Given the description of an element on the screen output the (x, y) to click on. 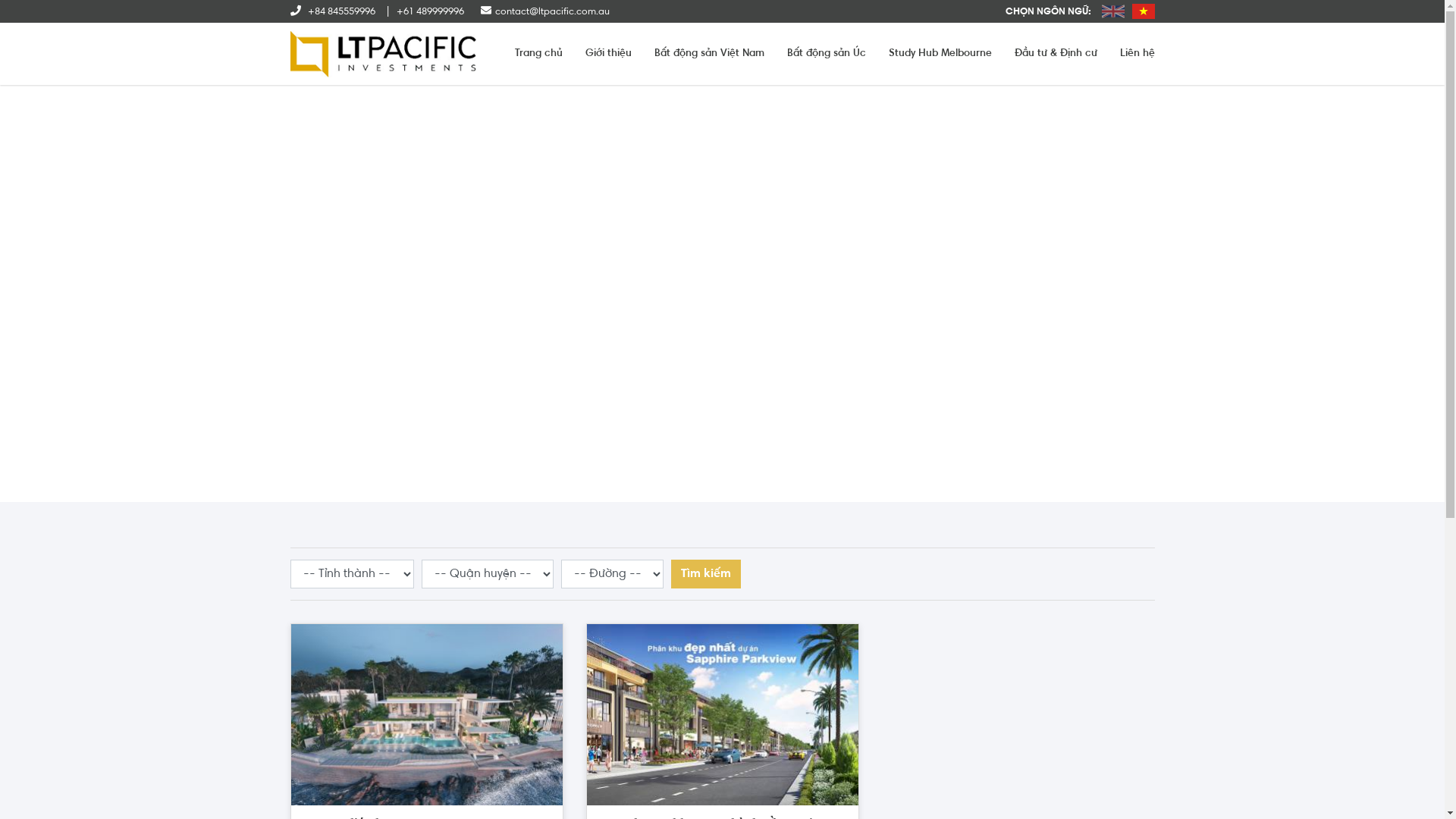
Study Hub Melbourne Element type: text (939, 53)
+84 845559996 Element type: text (331, 11)
+61 489999996 Element type: text (424, 11)
contact@ltpacific.com.au Element type: text (544, 11)
